Given the description of an element on the screen output the (x, y) to click on. 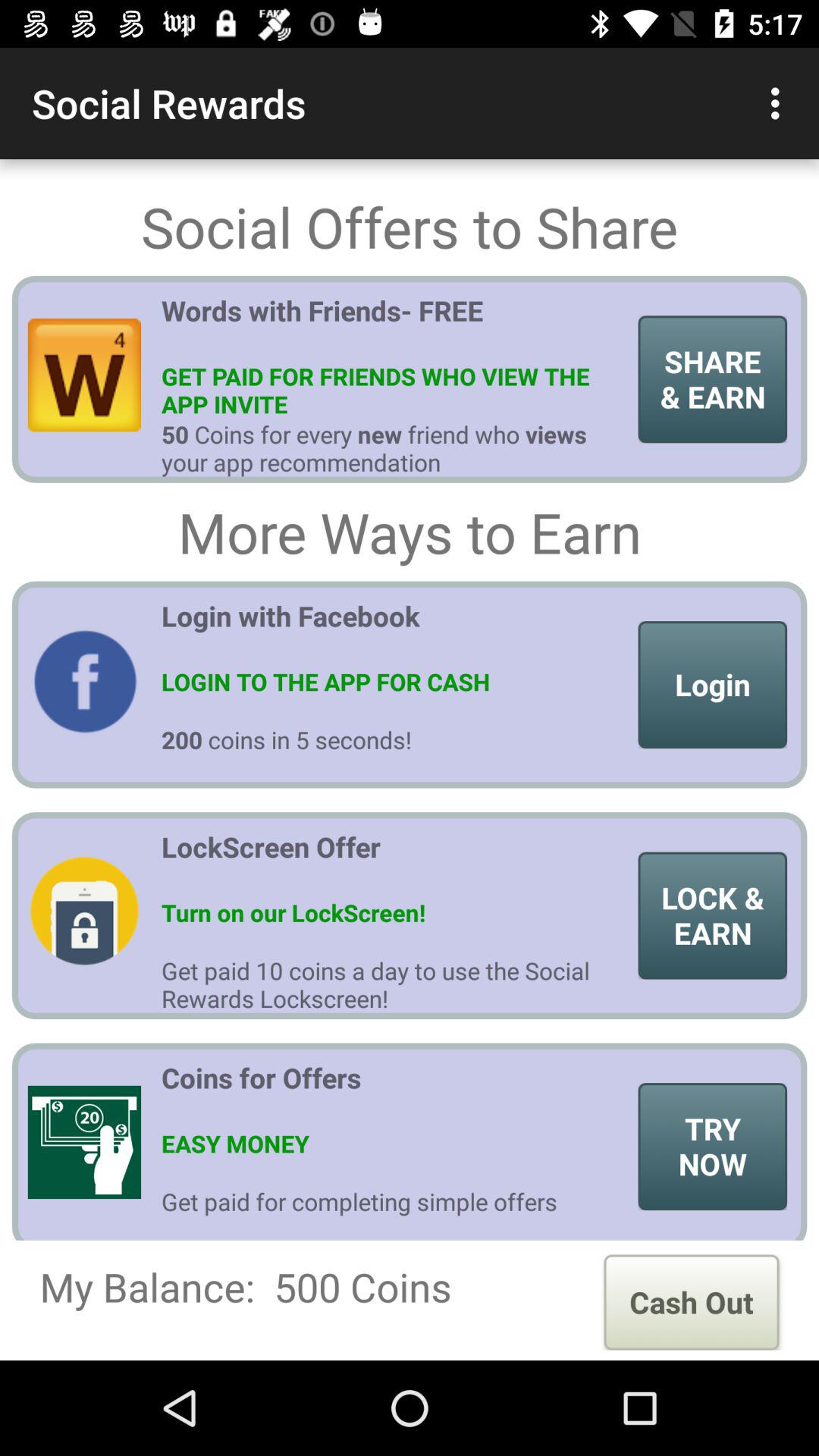
scroll to the share & earn icon (712, 379)
